Given the description of an element on the screen output the (x, y) to click on. 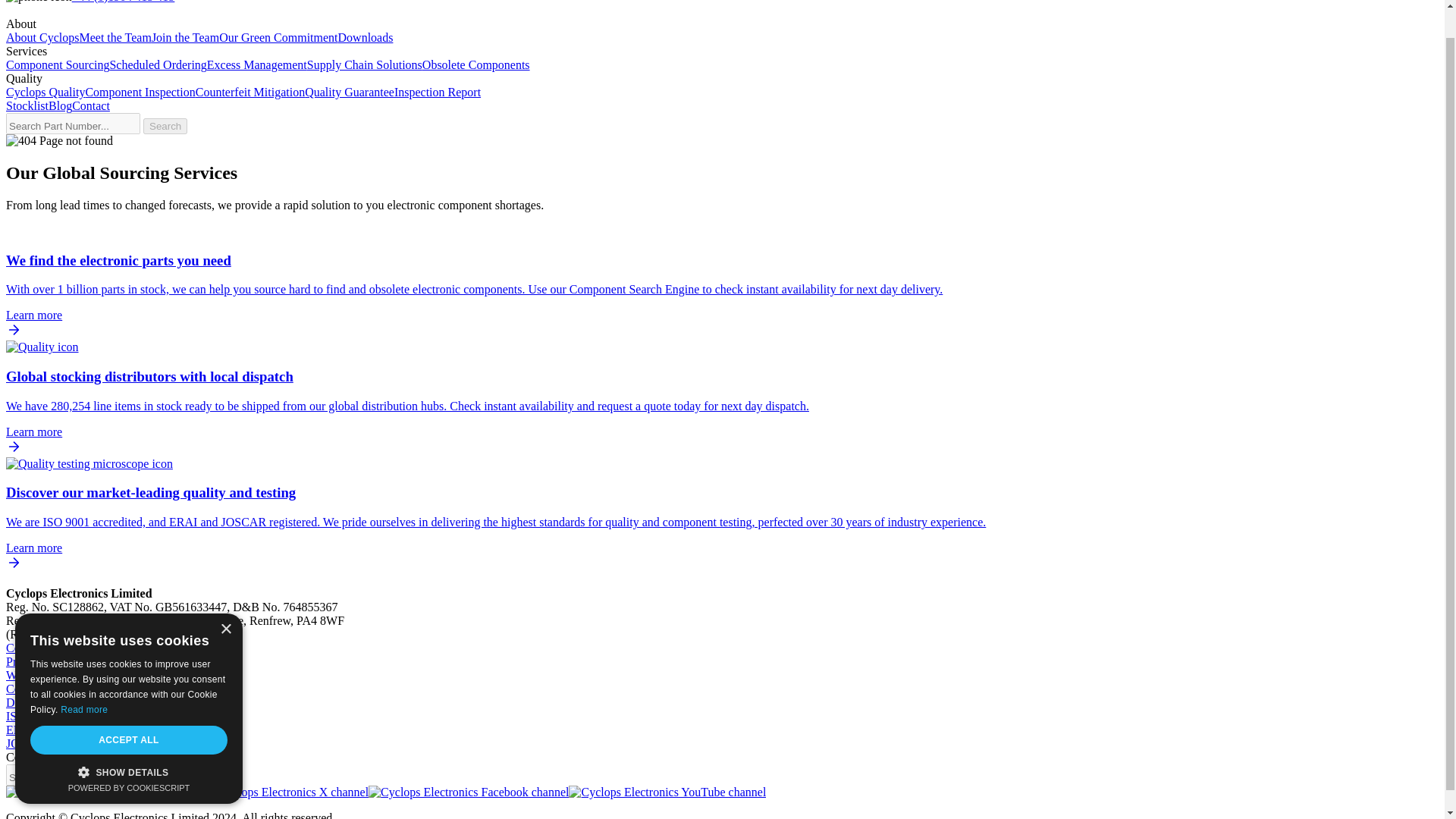
Consent Management Platform (129, 757)
Join the Team (185, 37)
Meet the Team (114, 37)
Blog (59, 105)
Search (164, 777)
Read more (84, 679)
Stocklist (26, 105)
Our Green Commitment (278, 37)
About Cyclops (41, 37)
Inspection Report (437, 91)
Cyclops Quality (44, 91)
Supply Chain Solutions (364, 64)
Component Sourcing (57, 64)
Scheduled Ordering (157, 64)
Obsolete Components (475, 64)
